Given the description of an element on the screen output the (x, y) to click on. 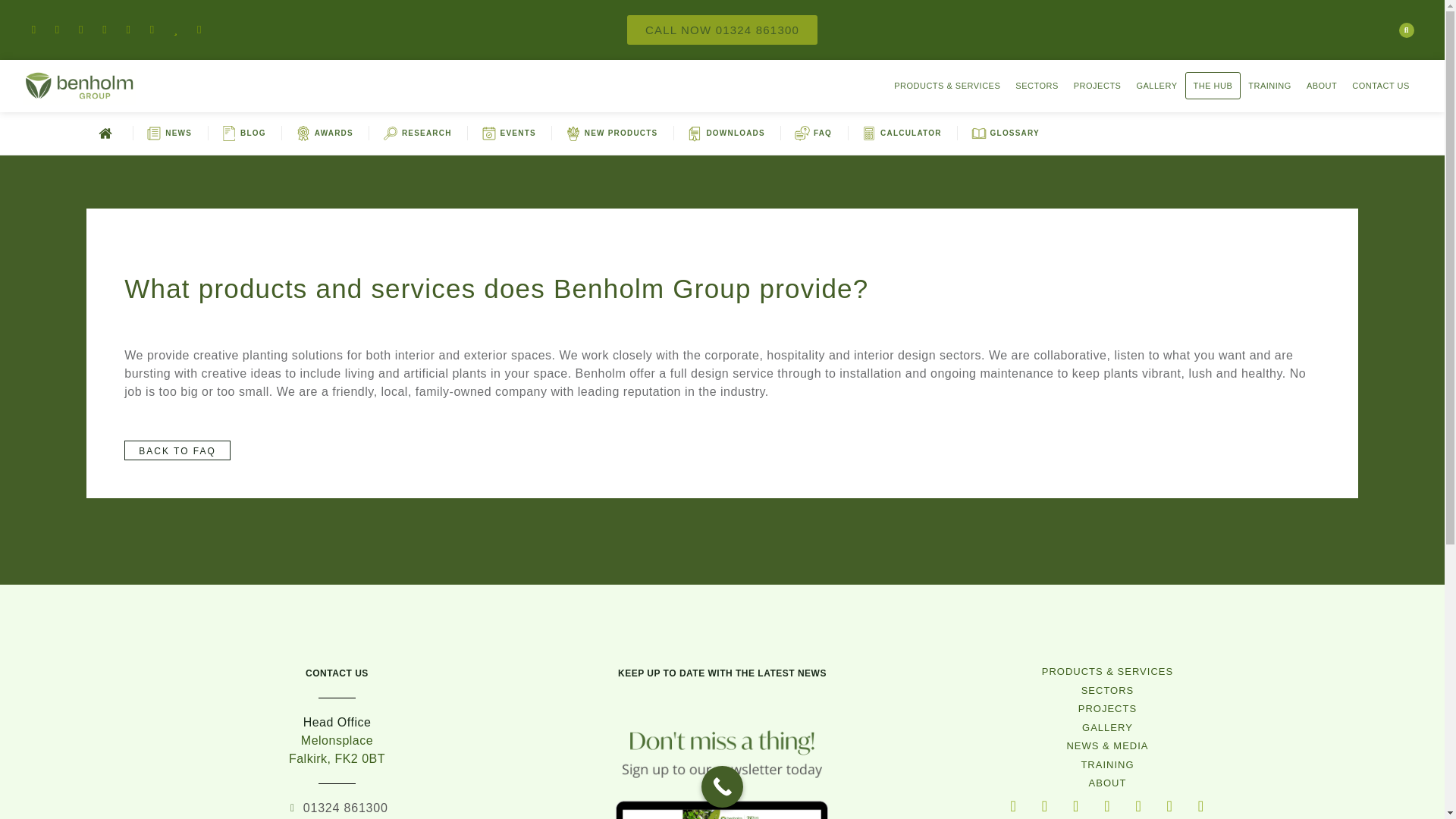
SECTORS (1036, 85)
CALL NOW 01324 861300 (721, 30)
PROJECTS (1097, 85)
TRAINING (1269, 85)
THE HUB (1213, 85)
GALLERY (1155, 85)
